Given the description of an element on the screen output the (x, y) to click on. 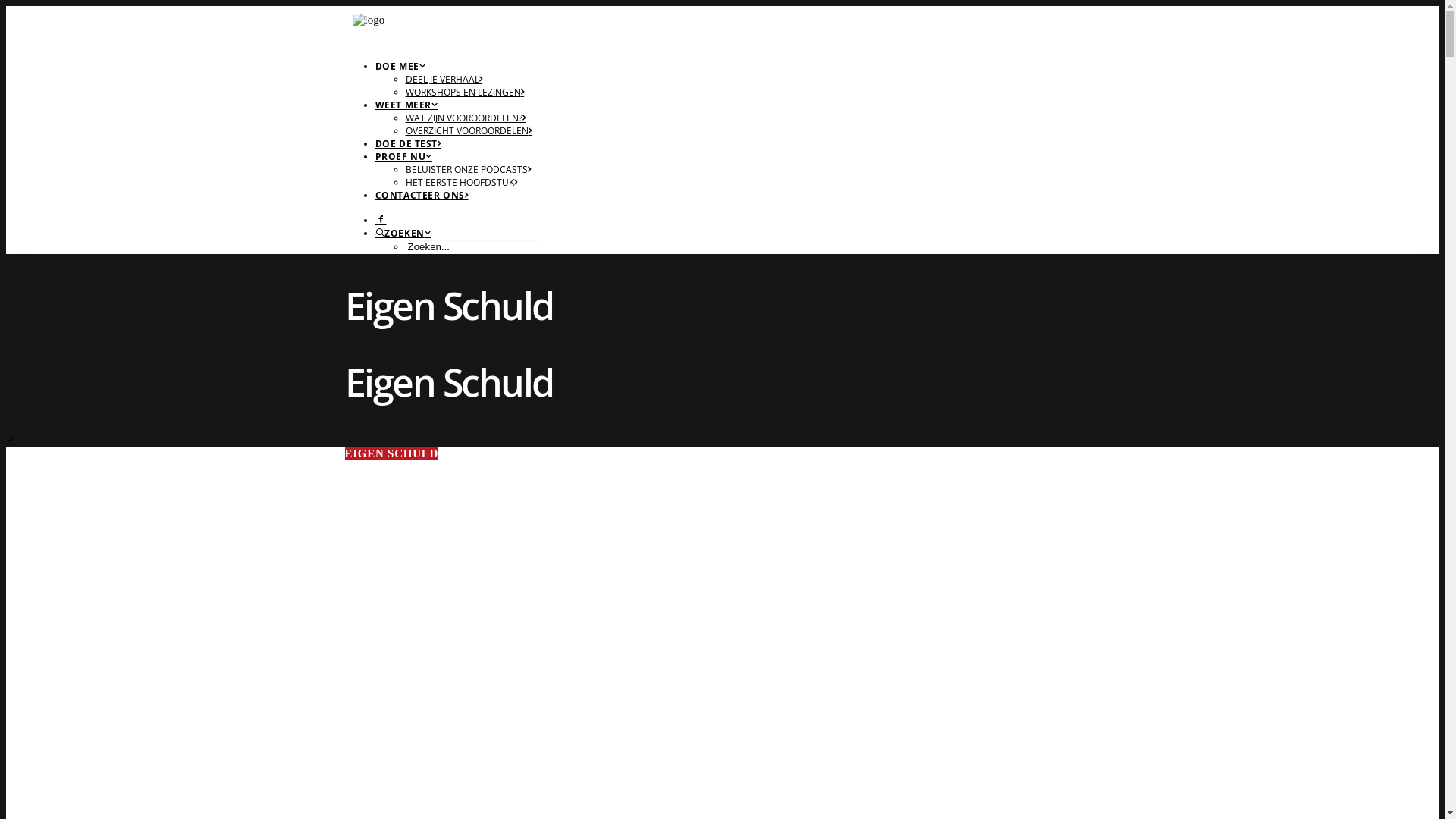
WEET MEER Element type: text (405, 104)
DOE MEE Element type: text (399, 65)
CONTACTEER ONS Element type: text (420, 194)
OVERZICHT VOOROORDELEN Element type: text (467, 130)
PROEF NU Element type: text (402, 156)
Zoeken... Element type: hover (470, 246)
HET EERSTE HOOFDSTUK Element type: text (460, 181)
WORKSHOPS EN LEZINGEN Element type: text (464, 91)
THEMA'S Element type: text (77, 62)
DOE DE TEST Element type: text (407, 143)
DEEL JE VERHAAL Element type: text (443, 78)
BELUISTER ONZE PODCASTS Element type: text (467, 169)
ZOEKEN Element type: text (402, 232)
WAT ZIJN VOOROORDELEN? Element type: text (464, 117)
